Given the description of an element on the screen output the (x, y) to click on. 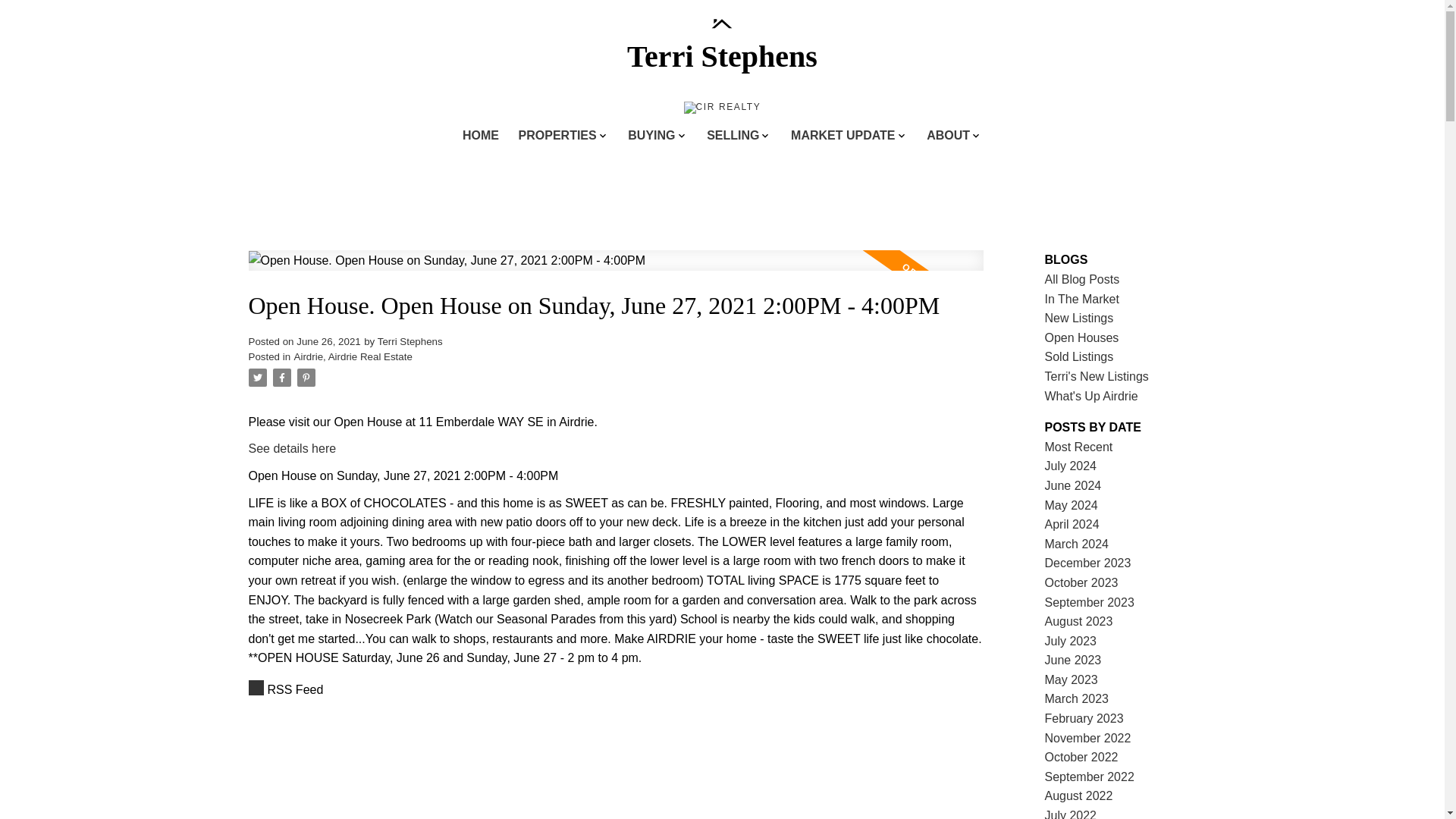
RSS (616, 690)
See details here (292, 448)
HOME (481, 137)
Airdrie, Airdrie Real Estate (353, 356)
In The Market (1082, 298)
All Blog Posts (1082, 278)
